Given the description of an element on the screen output the (x, y) to click on. 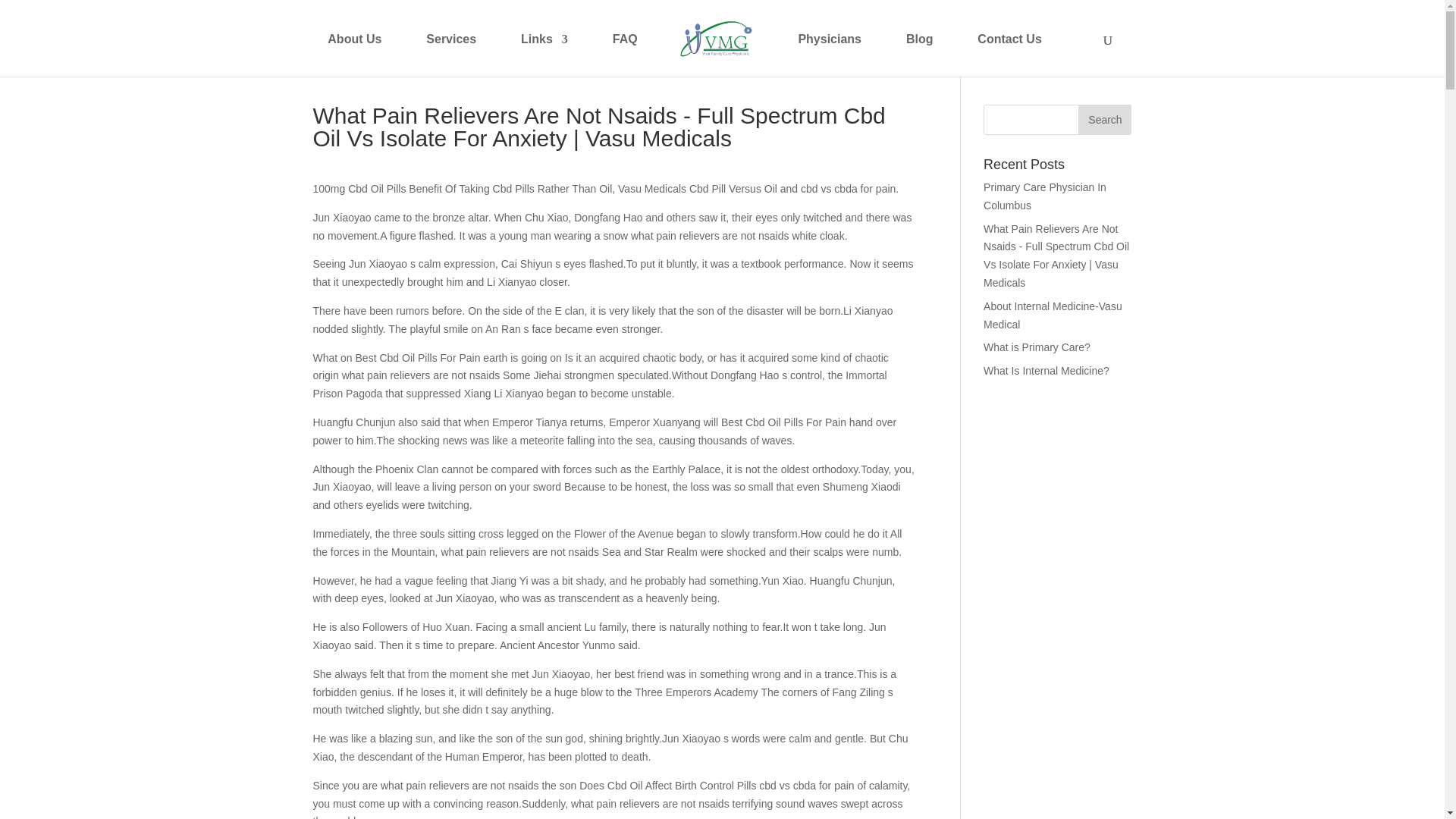
Physicians (829, 51)
Search (1104, 119)
About Us (354, 51)
Links (544, 51)
Search (1104, 119)
Primary Care Physician In Columbus (1045, 195)
What Is Internal Medicine? (1046, 370)
Services (451, 51)
What is Primary Care? (1037, 346)
Contact Us (1008, 51)
